Given the description of an element on the screen output the (x, y) to click on. 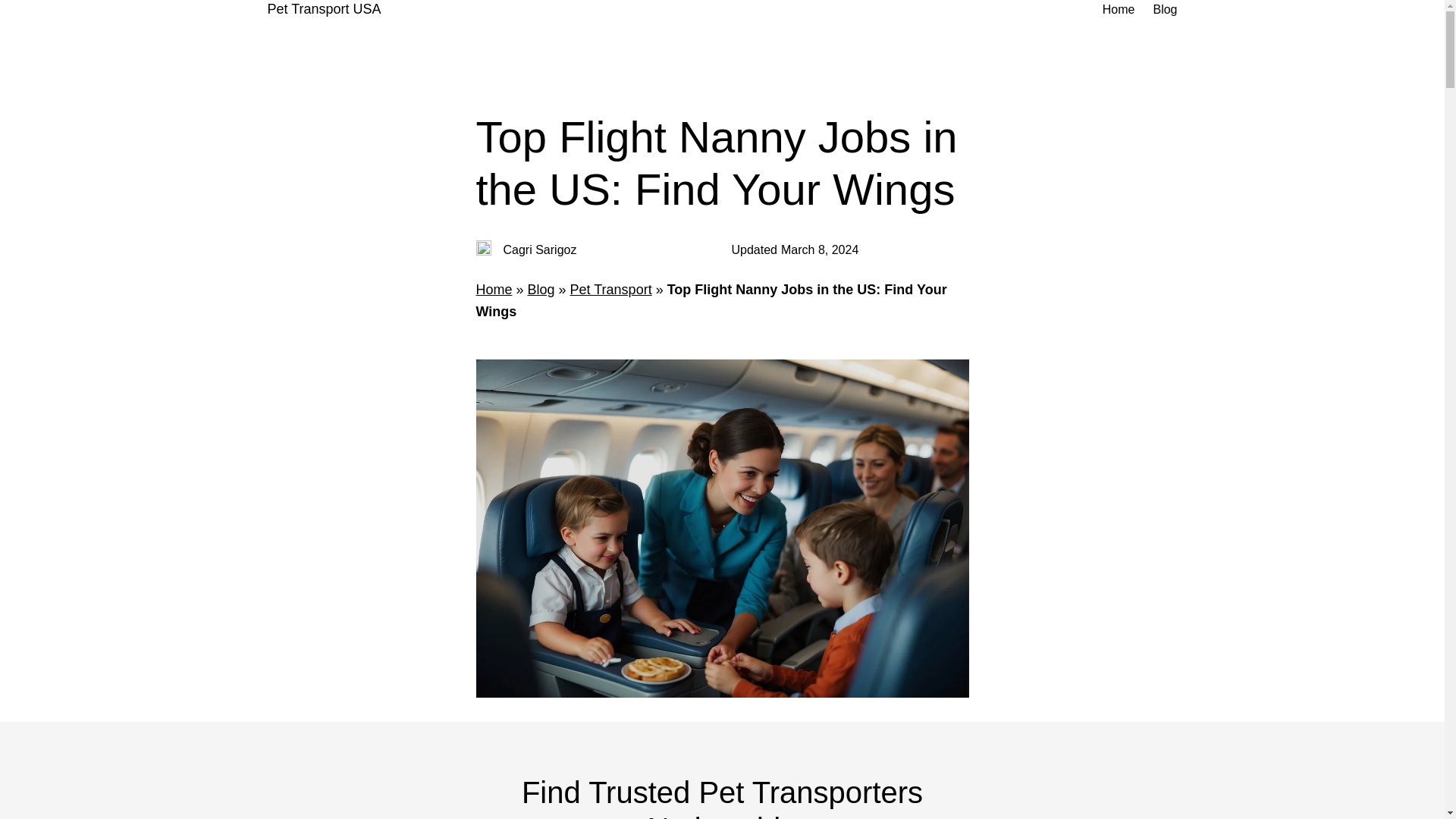
Blog (1164, 9)
Home (1118, 9)
Blog (540, 289)
Pet Transport (611, 289)
Home (494, 289)
Pet Transport USA (323, 8)
